Given the description of an element on the screen output the (x, y) to click on. 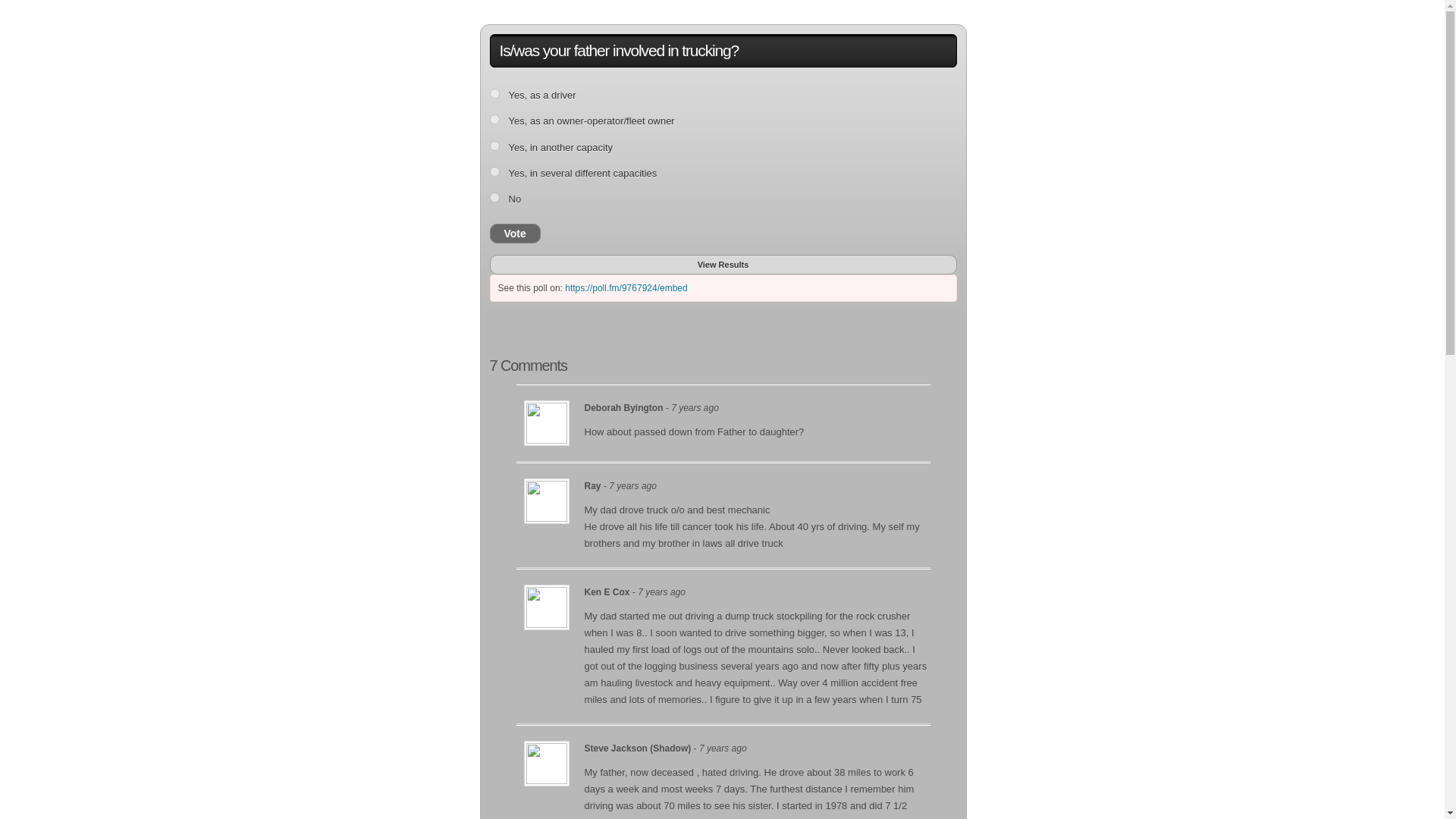
View Results (723, 264)
44677988 (494, 145)
Vote (514, 233)
44677987 (494, 119)
44677990 (494, 197)
44677986 (494, 93)
44677989 (494, 171)
